Given the description of an element on the screen output the (x, y) to click on. 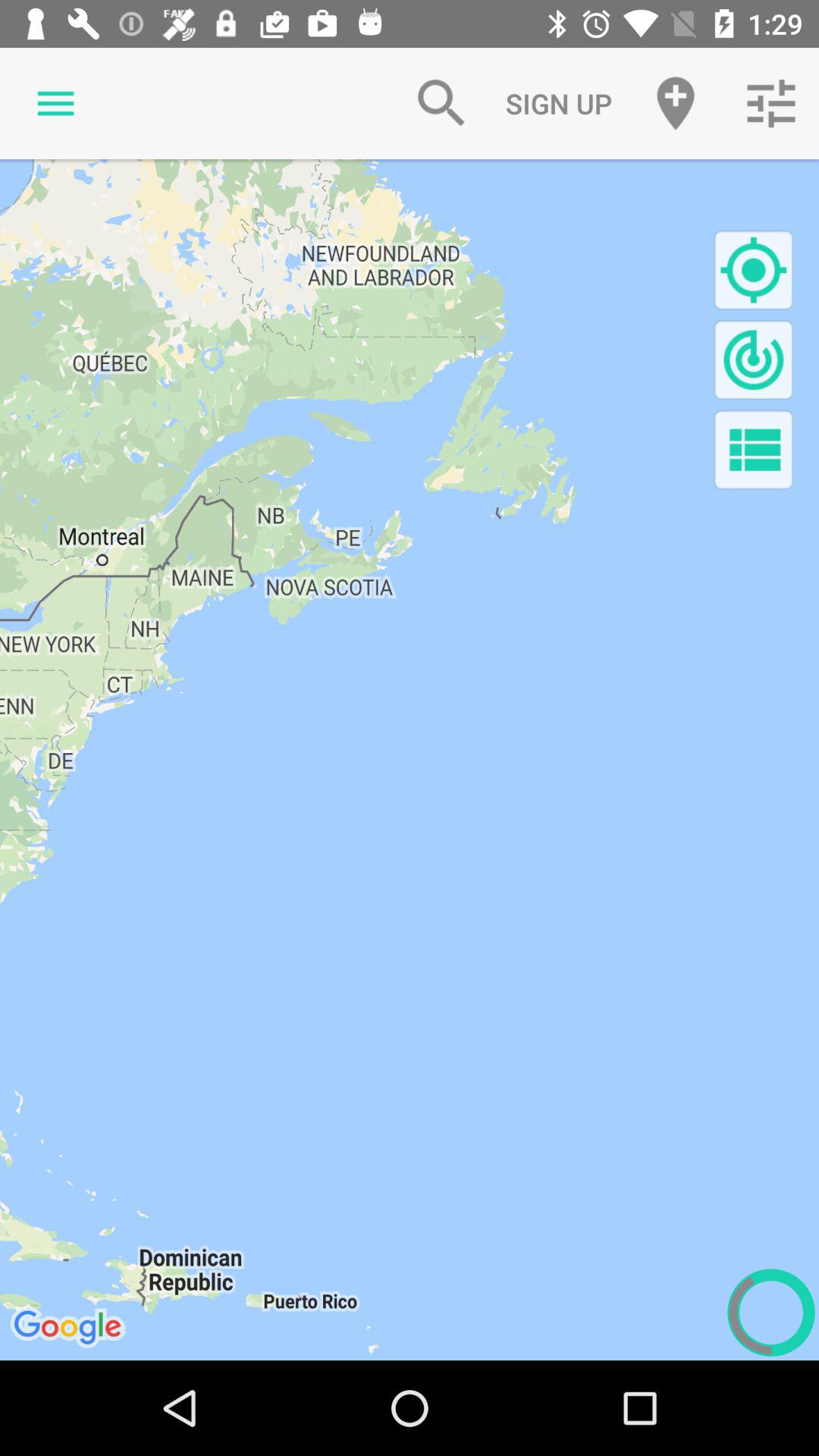
launch the item to the right of the sign up item (675, 103)
